Given the description of an element on the screen output the (x, y) to click on. 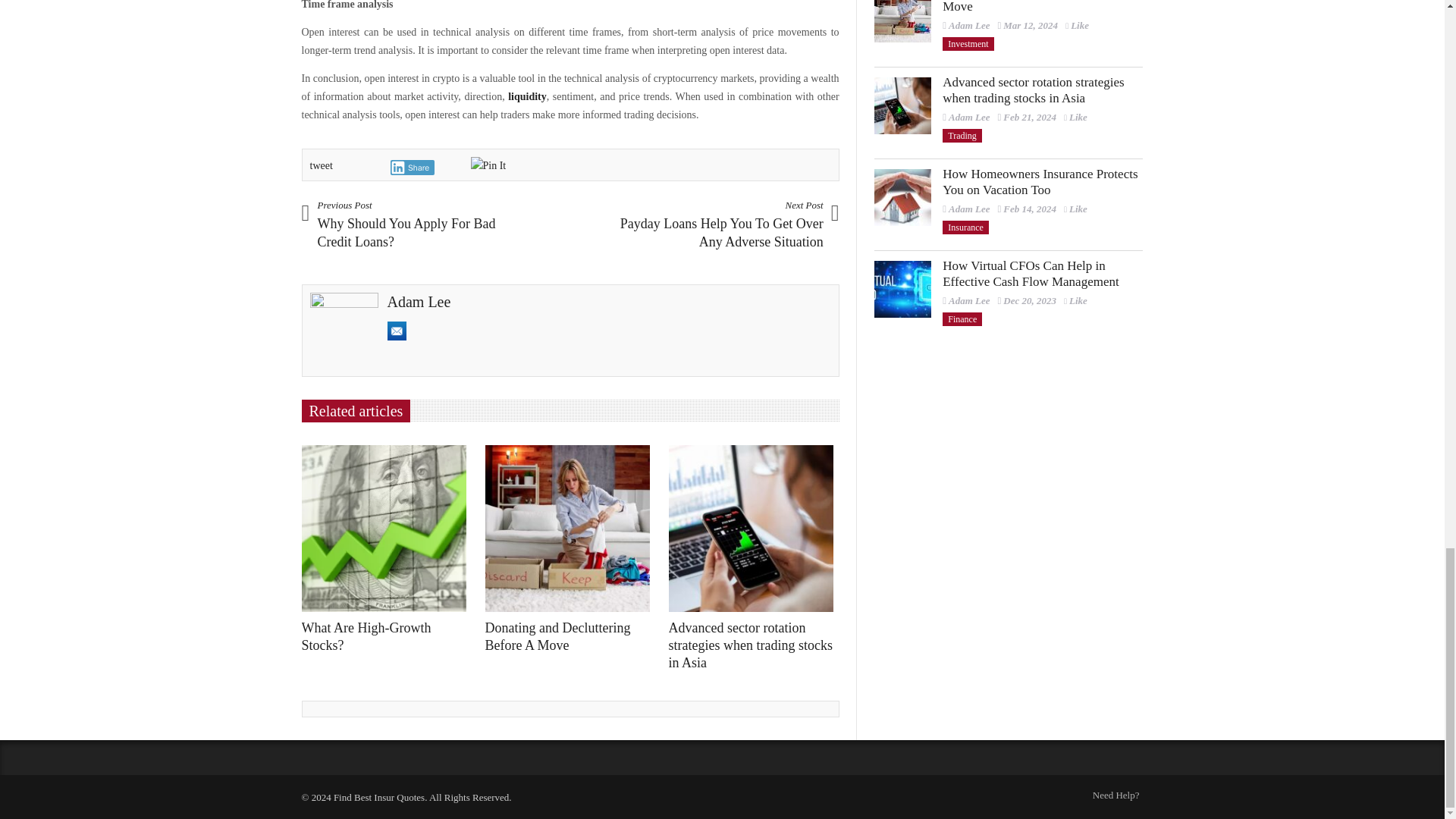
Donating and Decluttering Before A Move (903, 21)
Permanent link to What Are High-Growth Stocks? (365, 635)
Posts by Adam Lee (969, 25)
What Are High-Growth Stocks? (387, 528)
Pin It (487, 166)
Donating and Decluttering Before A Move (571, 528)
Permanent link to Donating and Decluttering Before A Move (557, 635)
